Given the description of an element on the screen output the (x, y) to click on. 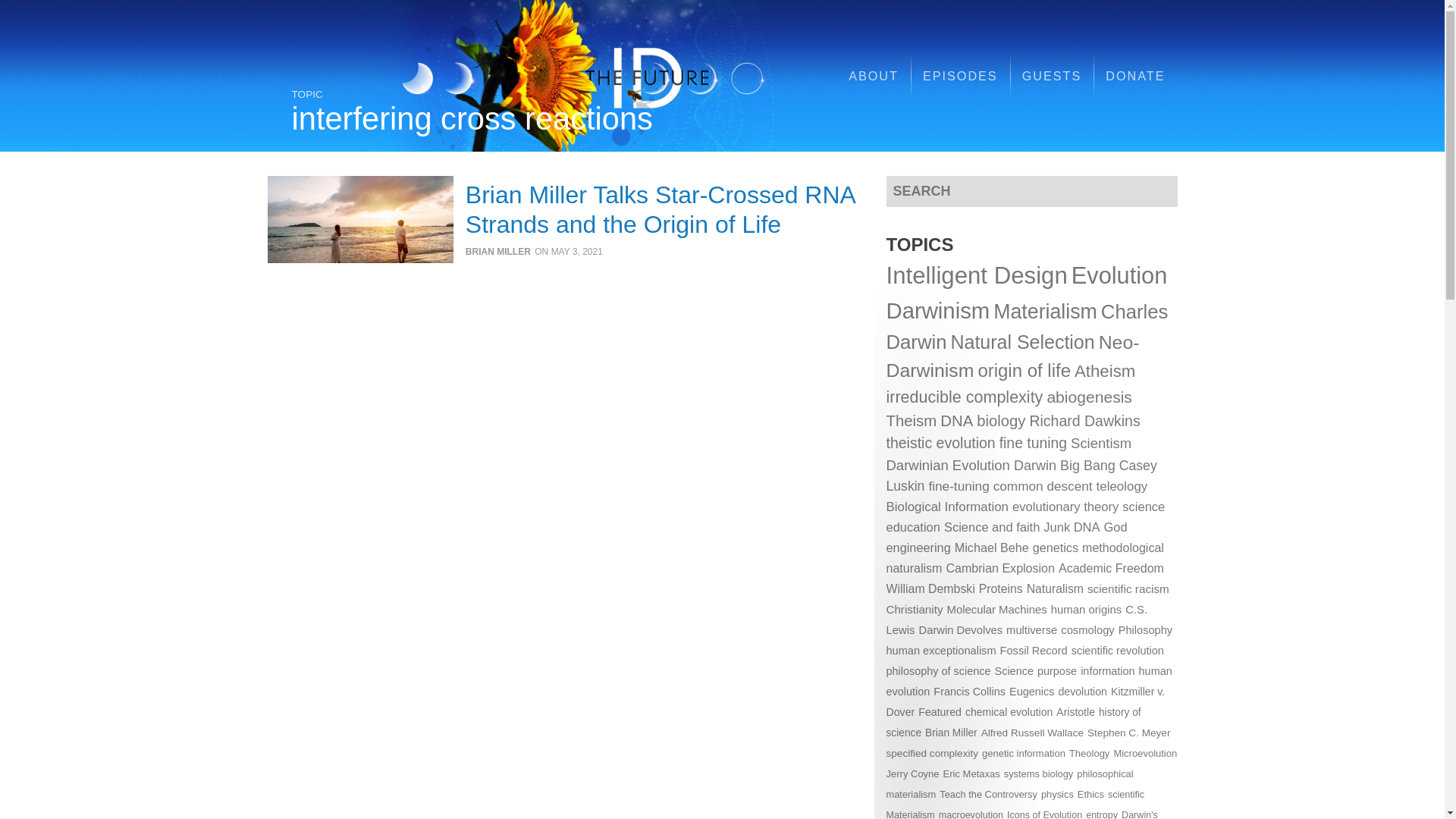
GUESTS (1052, 75)
EPISODES (960, 75)
DONATE (1134, 75)
ID THE FUTURE (611, 75)
ABOUT (873, 75)
